Given the description of an element on the screen output the (x, y) to click on. 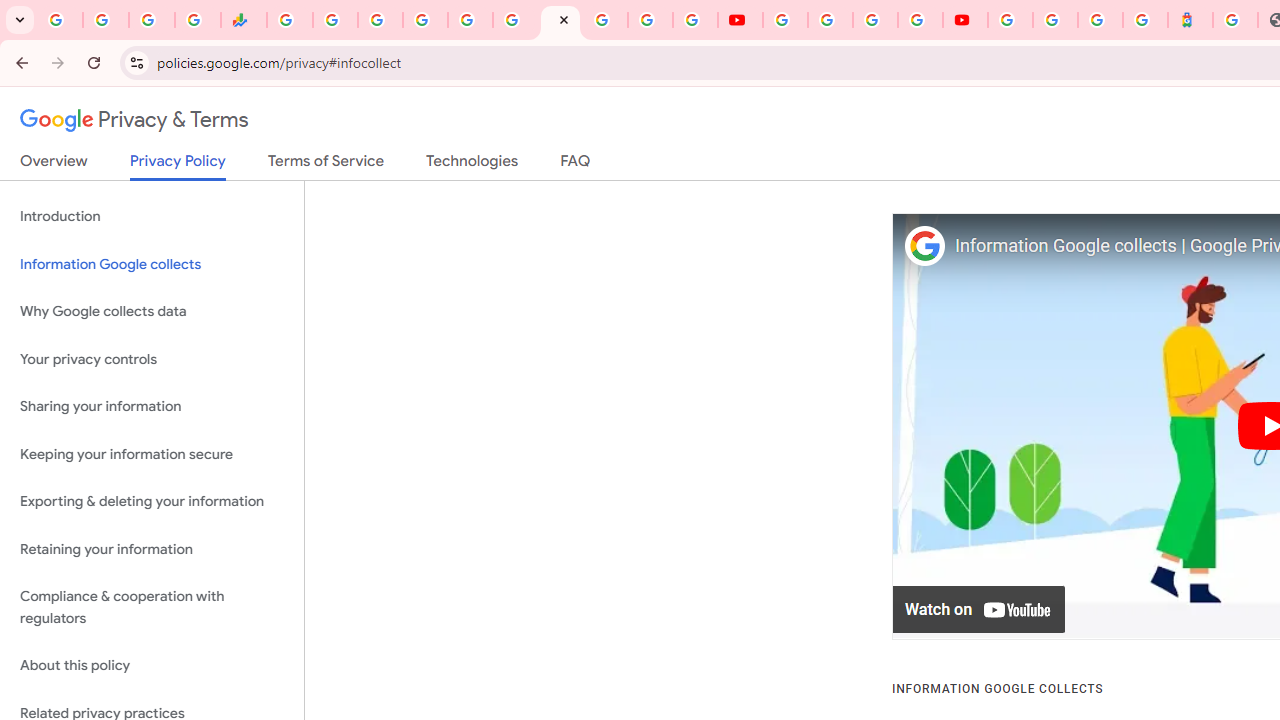
Atour Hotel - Google hotels (1190, 20)
Sign in - Google Accounts (425, 20)
YouTube (784, 20)
Google Workspace Admin Community (60, 20)
Terms of Service (326, 165)
Exporting & deleting your information (152, 502)
Your privacy controls (152, 358)
Information Google collects (152, 263)
Privacy Policy (177, 166)
